Given the description of an element on the screen output the (x, y) to click on. 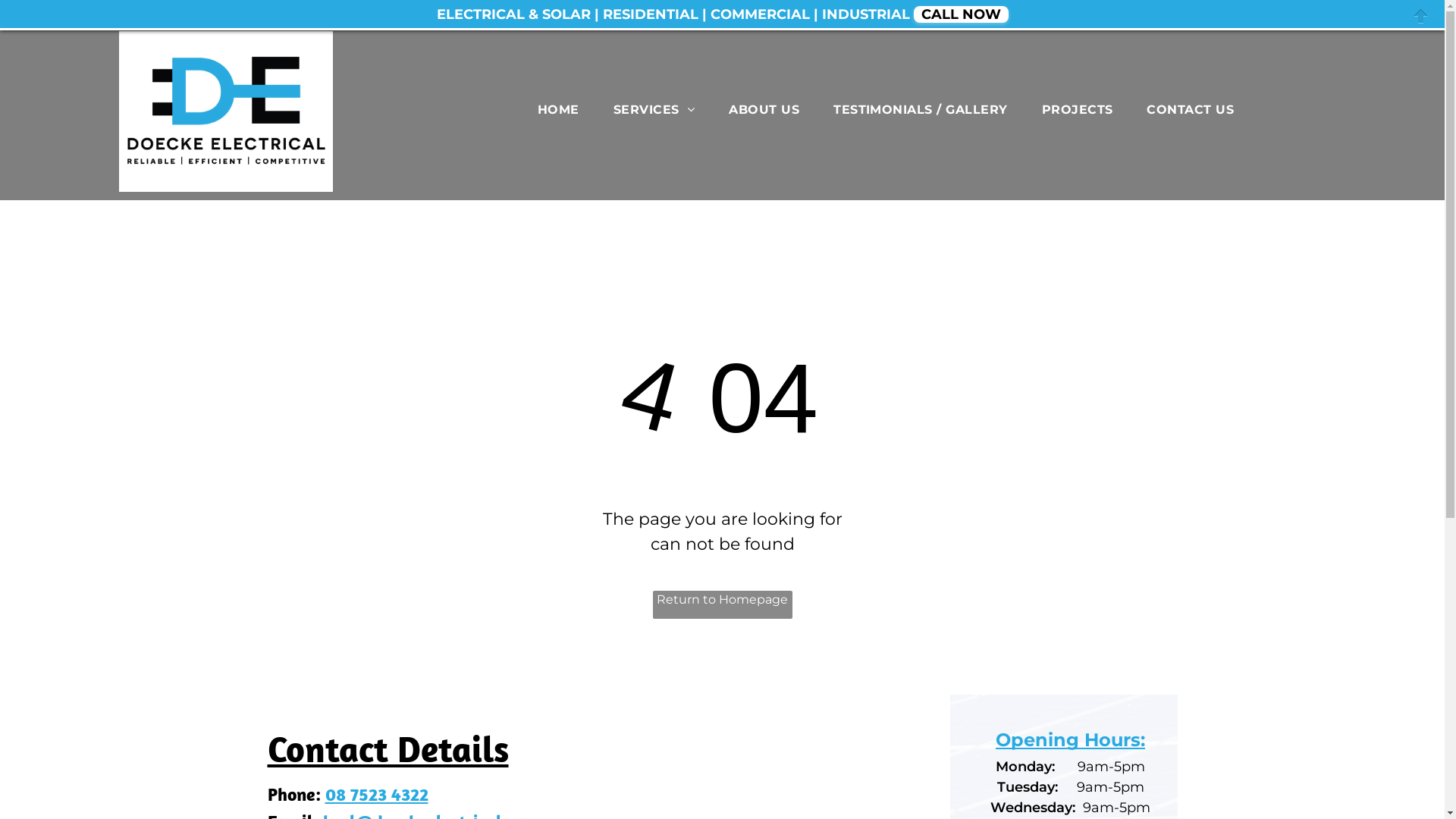
HOME Element type: text (558, 109)
Return to Homepage Element type: text (721, 604)
ABOUT US Element type: text (763, 109)
CALL NOW Element type: text (960, 14)
PROJECTS Element type: text (1077, 109)
CONTACT US Element type: text (1190, 109)
TESTIMONIALS / GALLERY Element type: text (920, 109)
08 7523 4322 Element type: text (375, 793)
SERVICES Element type: text (654, 109)
